Given the description of an element on the screen output the (x, y) to click on. 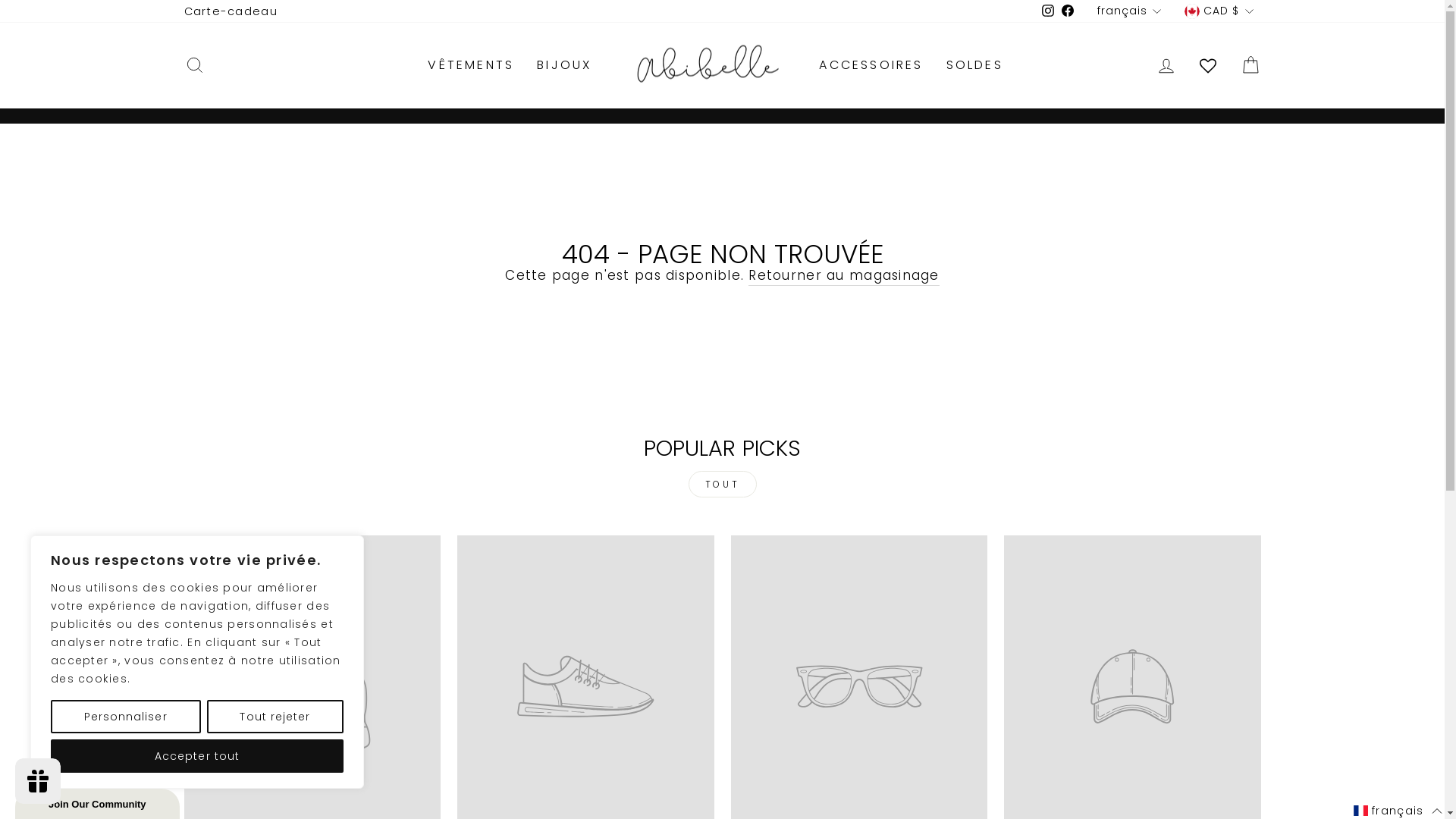
Retourner au magasinage Element type: text (843, 275)
Personnaliser Element type: text (125, 716)
SE CONNECTER Element type: text (1166, 65)
Tout rejeter Element type: text (275, 716)
SOLDES Element type: text (974, 65)
BIJOUX Element type: text (563, 65)
ACCESSOIRES Element type: text (870, 65)
RECHERCHER Element type: text (193, 65)
Carte-cadeau Element type: text (229, 11)
Facebook Element type: text (1067, 11)
PANIER Element type: text (1249, 65)
Instagram Element type: text (1047, 11)
Smile.io Rewards Program Launcher Element type: hover (37, 780)
Accepter tout Element type: text (196, 755)
Passer au contenu Element type: text (0, 0)
TOUT Element type: text (722, 483)
CAD $ Element type: text (1218, 11)
